Given the description of an element on the screen output the (x, y) to click on. 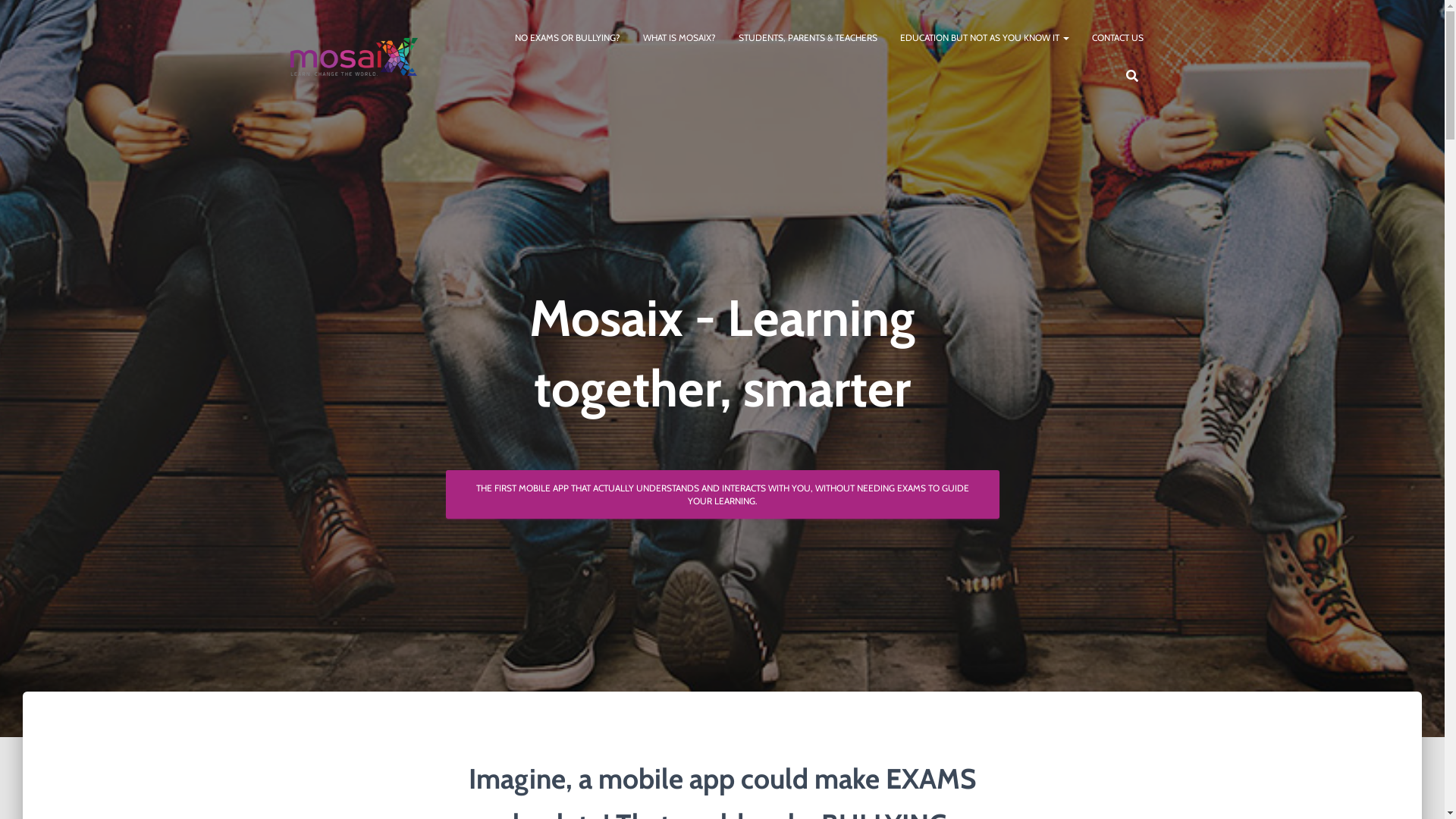
STUDENTS, PARENTS & TEACHERS Element type: text (807, 37)
EDUCATION BUT NOT AS YOU KNOW IT Element type: text (984, 37)
Search Element type: text (3, 16)
CONTACT US Element type: text (1116, 37)
WHAT IS MOSAIX? Element type: text (678, 37)
NO EXAMS OR BULLYING? Element type: text (567, 37)
Mosaix Element type: hover (354, 56)
